Given the description of an element on the screen output the (x, y) to click on. 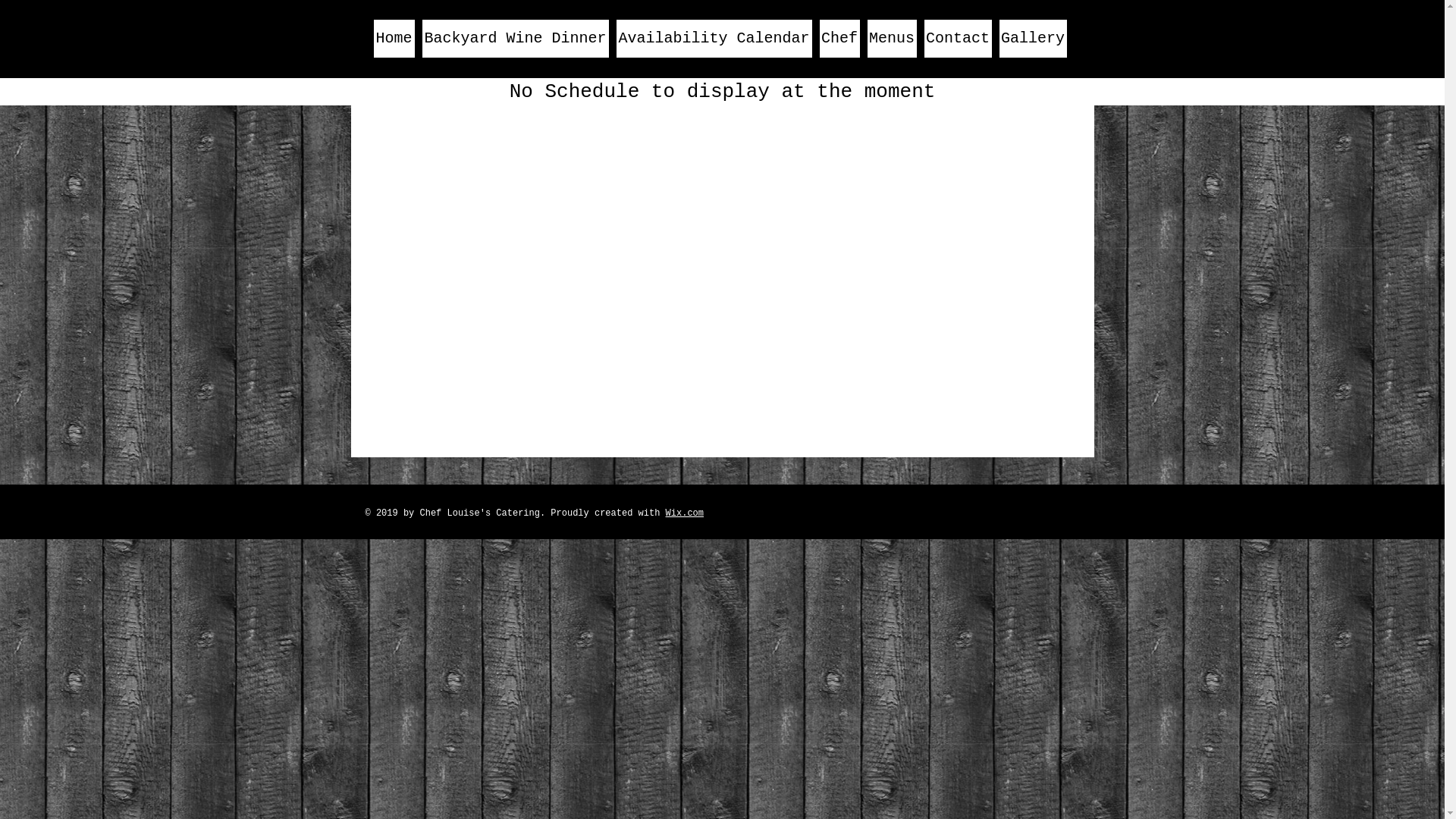
Restaurant Social Bar Element type: hover (1021, 510)
Contact Element type: text (957, 38)
Wix.com Element type: text (684, 513)
Chef Element type: text (839, 38)
Home Element type: text (393, 38)
Availability Calendar Element type: text (713, 38)
Backyard Wine Dinner Element type: text (514, 38)
Gallery Element type: text (1032, 38)
